Given the description of an element on the screen output the (x, y) to click on. 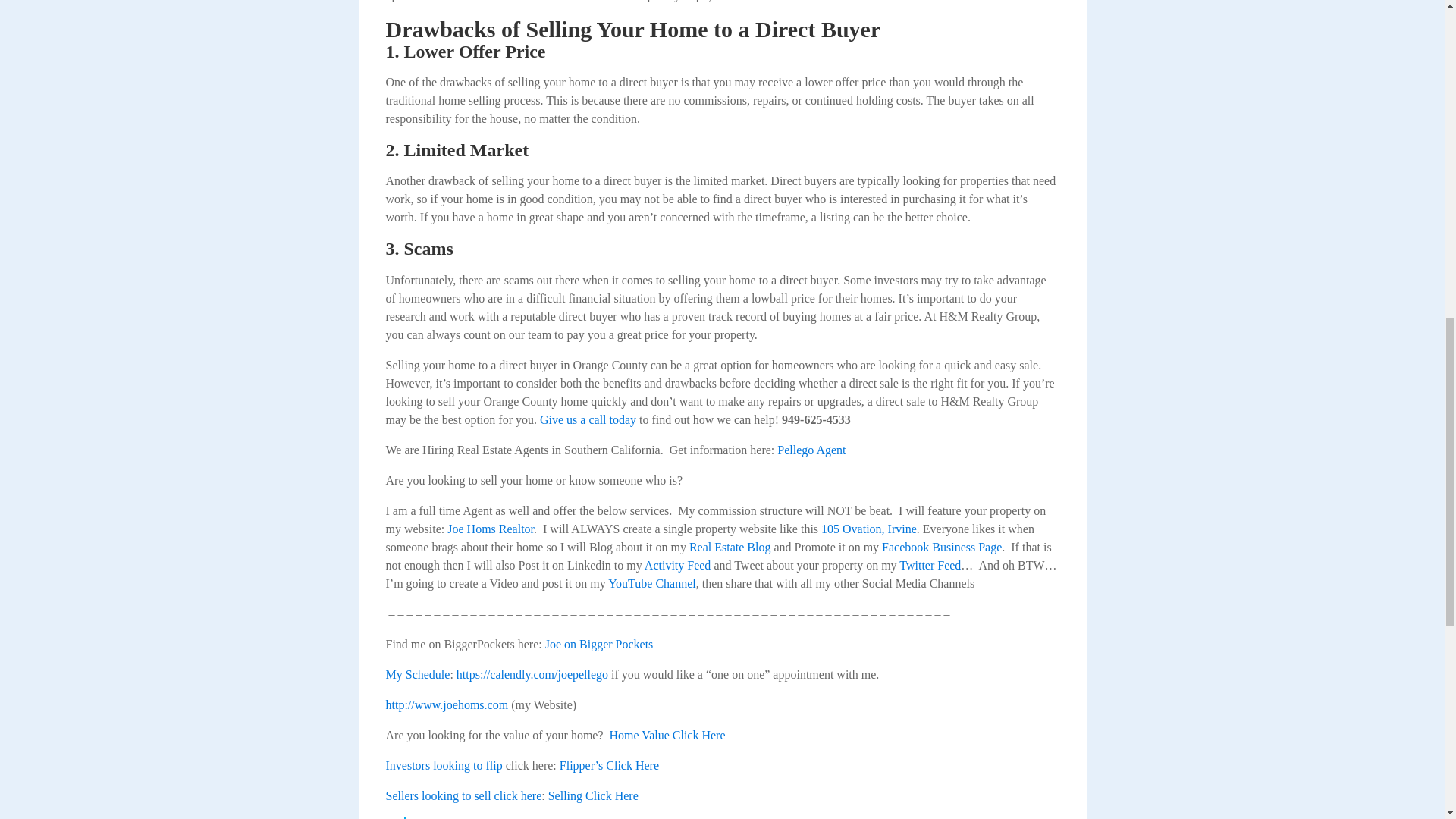
Joe on Bigger Pockets (598, 644)
Home Value Click Here (667, 735)
Real Estate Blog (729, 546)
Sellers looking to sell click here (463, 795)
Twitter Feed (929, 564)
Joe Homs Realtor (490, 528)
105 Ovation, Irvine (869, 528)
YouTube Channel (651, 583)
Facebook Business Page (941, 546)
Activity Feed (678, 564)
Selling Click Here (593, 795)
Investors looking to flip (443, 765)
My Schedule (417, 674)
Pellego Agent (811, 449)
Give us a call today (588, 419)
